Given the description of an element on the screen output the (x, y) to click on. 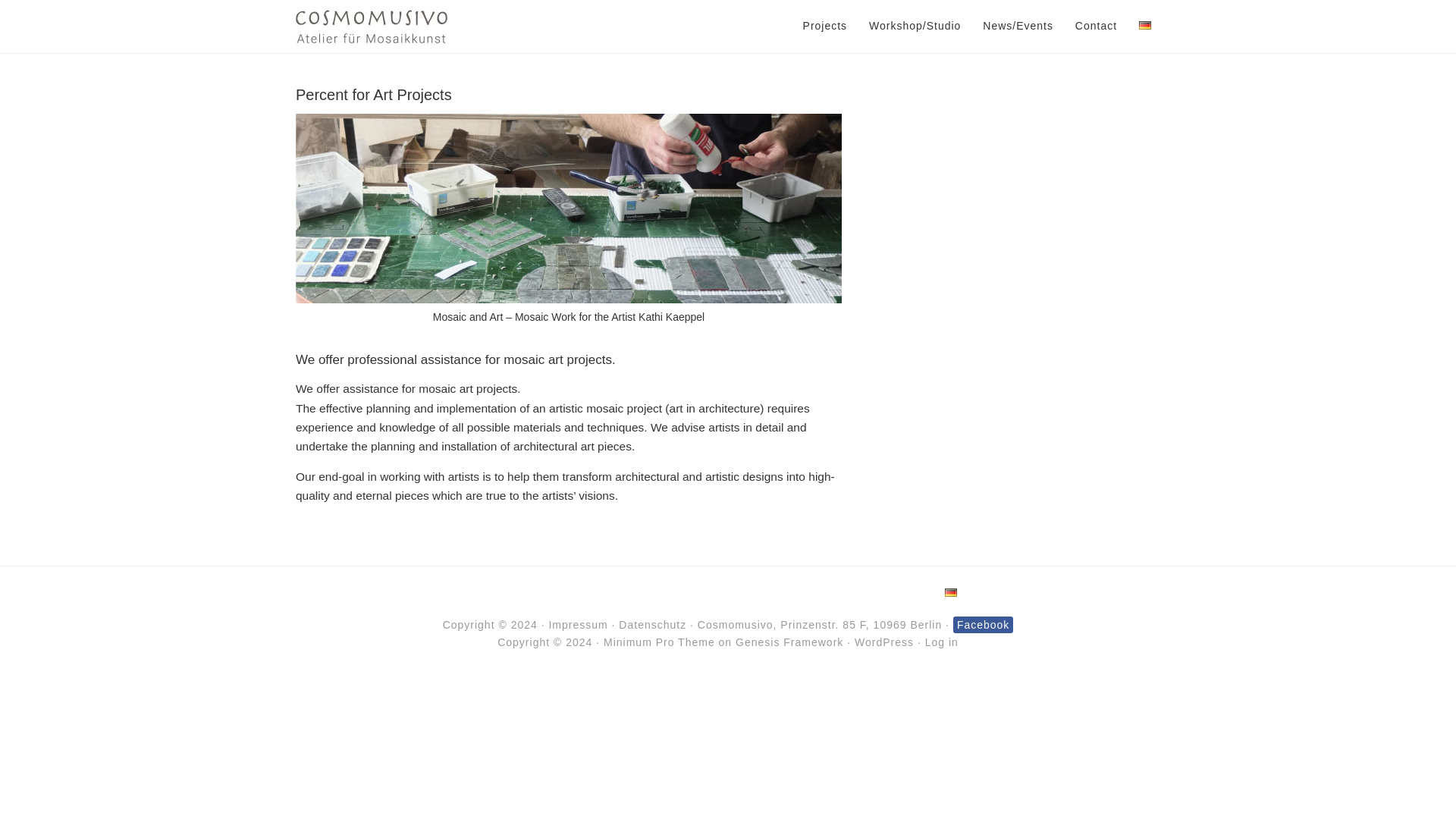
Contact (874, 593)
WordPress (884, 642)
Genesis Framework (789, 642)
Cosmomusivo Impressum (577, 624)
Log in (941, 642)
Cosmomusivo, Prinzenstr. 85 F, 10969 Berlin (819, 624)
Impressum (577, 624)
Facebook (983, 624)
Projects (825, 26)
COSMOMUSIVO (370, 26)
Datenschutz (651, 624)
Projects (521, 593)
Kontakt (819, 624)
Contact (1095, 26)
Facebook (983, 624)
